Given the description of an element on the screen output the (x, y) to click on. 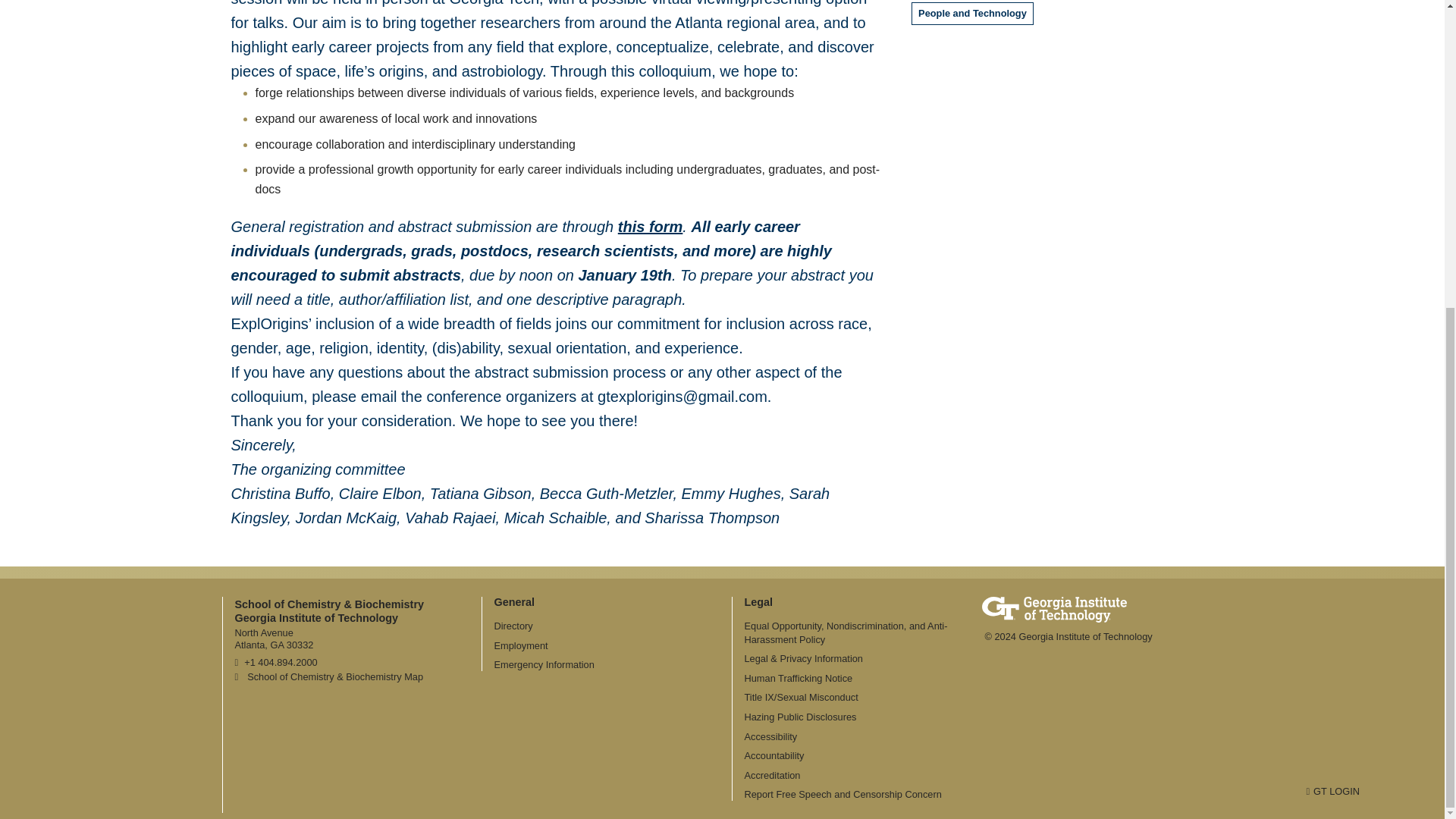
Georgia Institute of Technology Directory (513, 625)
Georgia Human Trafficking Resources (798, 677)
Georgia Institute of Technology Employment (521, 645)
Georgia Institute of Technology Accountability Resources (774, 755)
Legal Main Menu Category (758, 602)
General Main Menu Category (515, 602)
Georgia Institute of Technology Accessibility Resources (770, 736)
Georgia Institute of Technology Emergency Information (544, 664)
Georgia Tech Hazing Conduct History (800, 716)
